Given the description of an element on the screen output the (x, y) to click on. 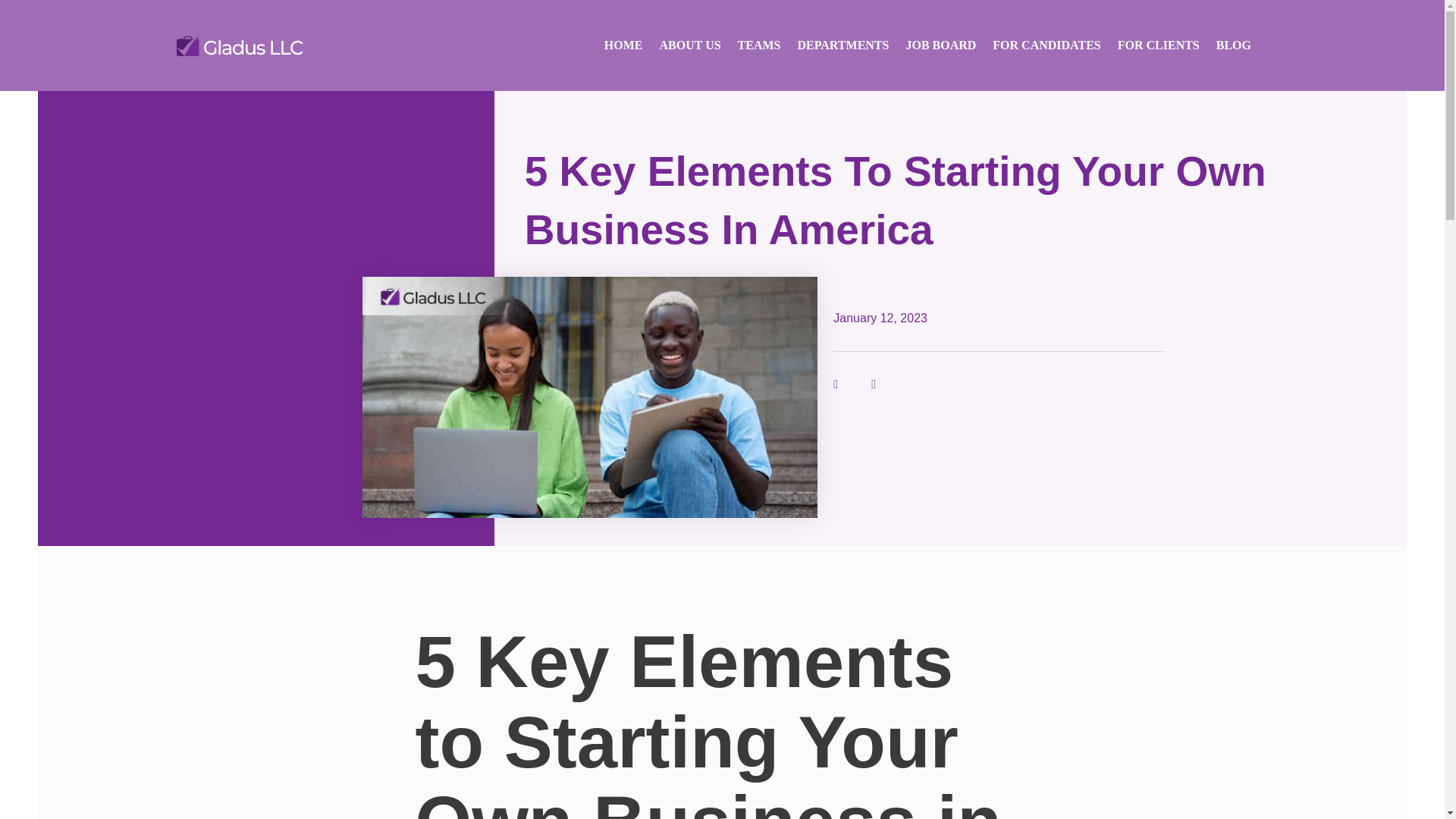
ABOUT US (689, 44)
FOR CLIENTS (1158, 44)
DEPARTMENTS (843, 44)
TEAMS (759, 44)
January 12, 2023 (879, 318)
FOR CANDIDATES (1046, 44)
BLOG (1232, 44)
HOME (623, 44)
JOB BOARD (940, 44)
